Given the description of an element on the screen output the (x, y) to click on. 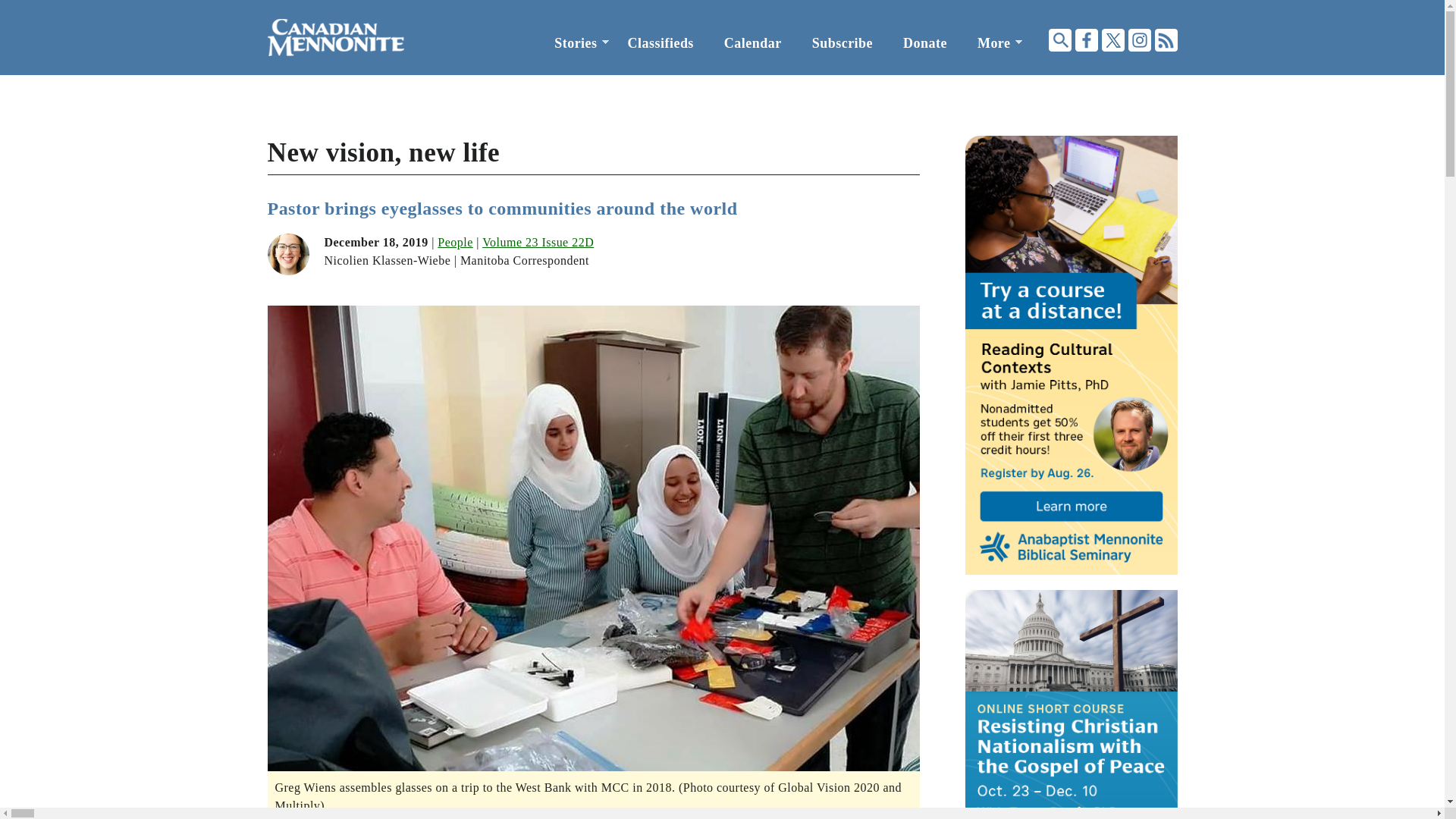
RSS (1165, 39)
Classifieds (660, 42)
Subscribe to Canadian Mennonite (842, 42)
Calendar (752, 42)
Support Canadian Mennonite (925, 42)
Subscribe (842, 42)
Church Events Calendar (752, 42)
Donate (925, 42)
People (454, 241)
Browse Stories (574, 42)
